Given the description of an element on the screen output the (x, y) to click on. 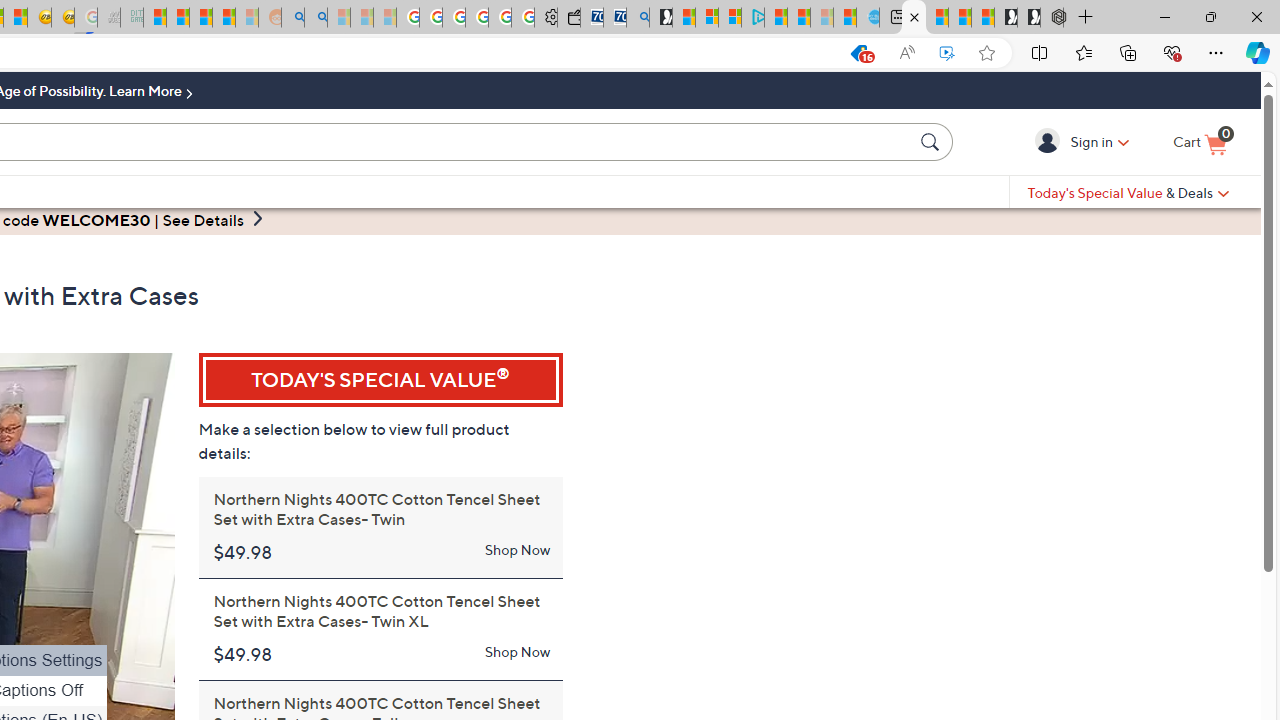
Cart is Empty  (1199, 143)
Today's Special Value & Deals (1128, 192)
This site has coupons! Shopping in Microsoft Edge, 16 (858, 53)
Search Submit (932, 141)
